Given the description of an element on the screen output the (x, y) to click on. 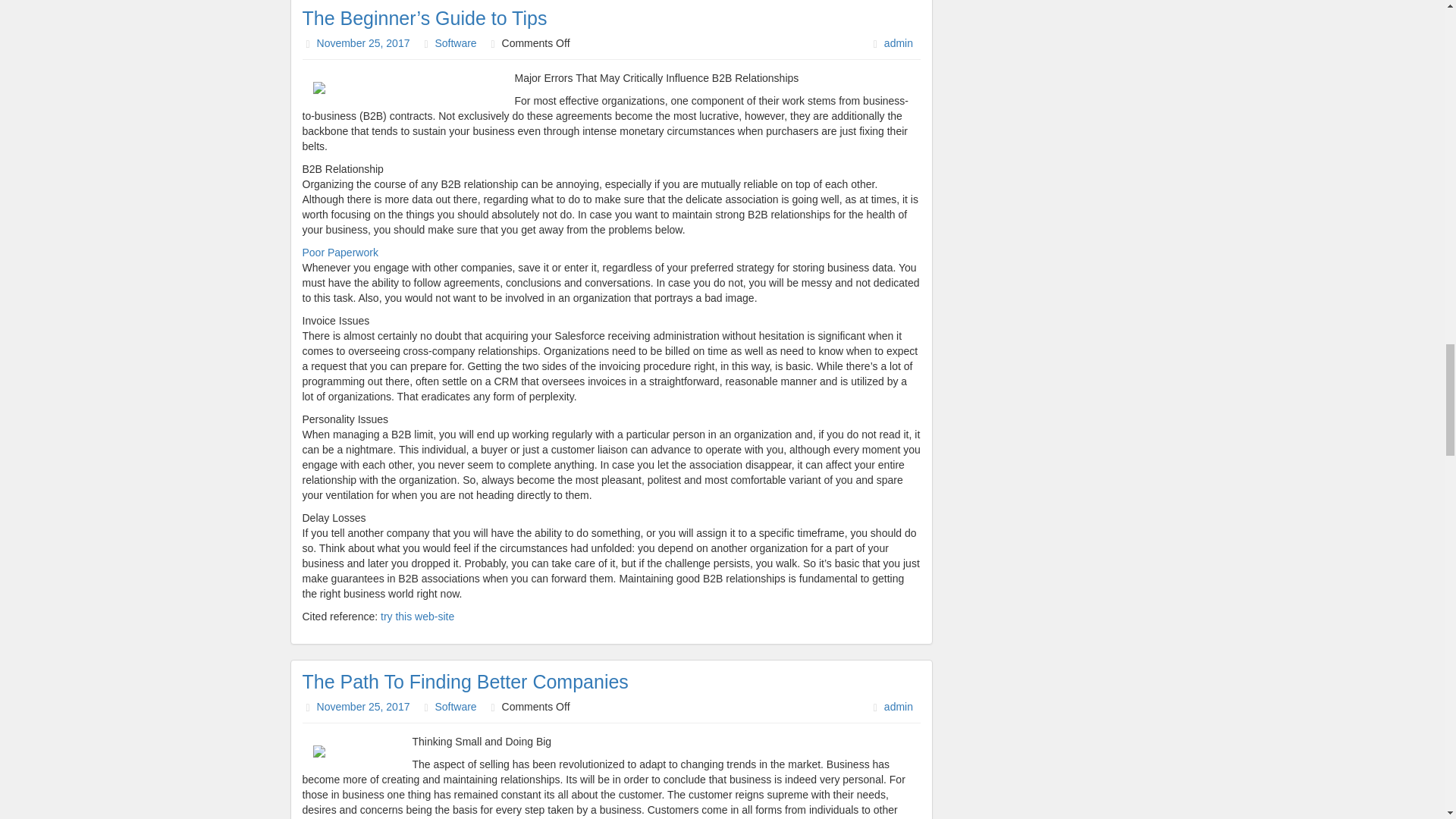
Software (454, 42)
Poor Paperwork (339, 252)
Posts by admin (897, 706)
November 25, 2017 (363, 42)
Posts by admin (897, 42)
November 25, 2017 (363, 706)
Software (454, 706)
admin (897, 42)
The Path To Finding Better Companies (464, 681)
try this web-site (417, 616)
